Given the description of an element on the screen output the (x, y) to click on. 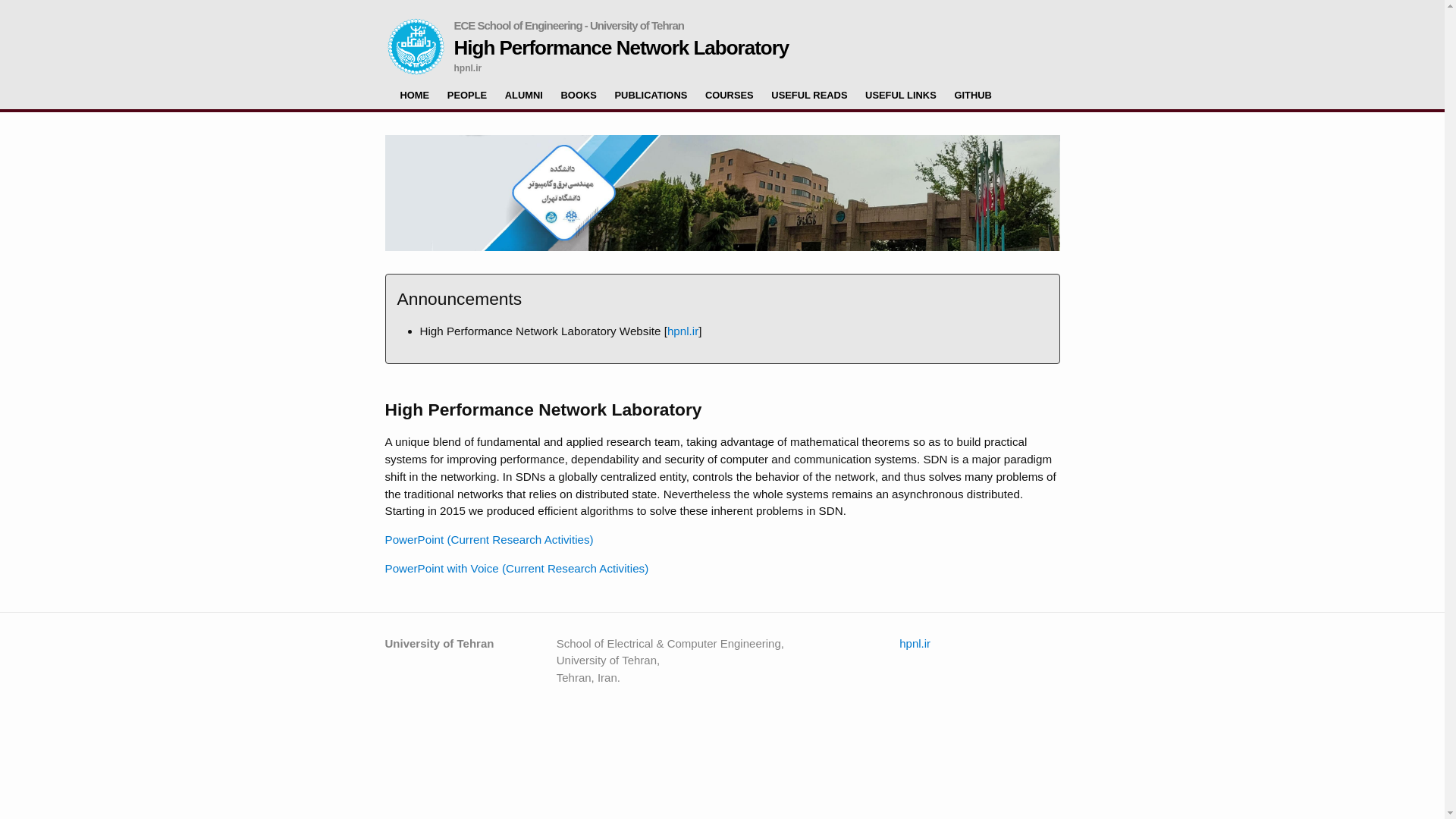
USEFUL LINKS (900, 94)
PUBLICATIONS (650, 94)
ALUMNI (524, 94)
USEFUL READS (809, 94)
hpnl.ir (682, 330)
hpnl.ir (914, 643)
ECE School of Engineering - University of Tehran (567, 26)
PEOPLE (466, 94)
GITHUB (972, 94)
HOME (414, 94)
